Given the description of an element on the screen output the (x, y) to click on. 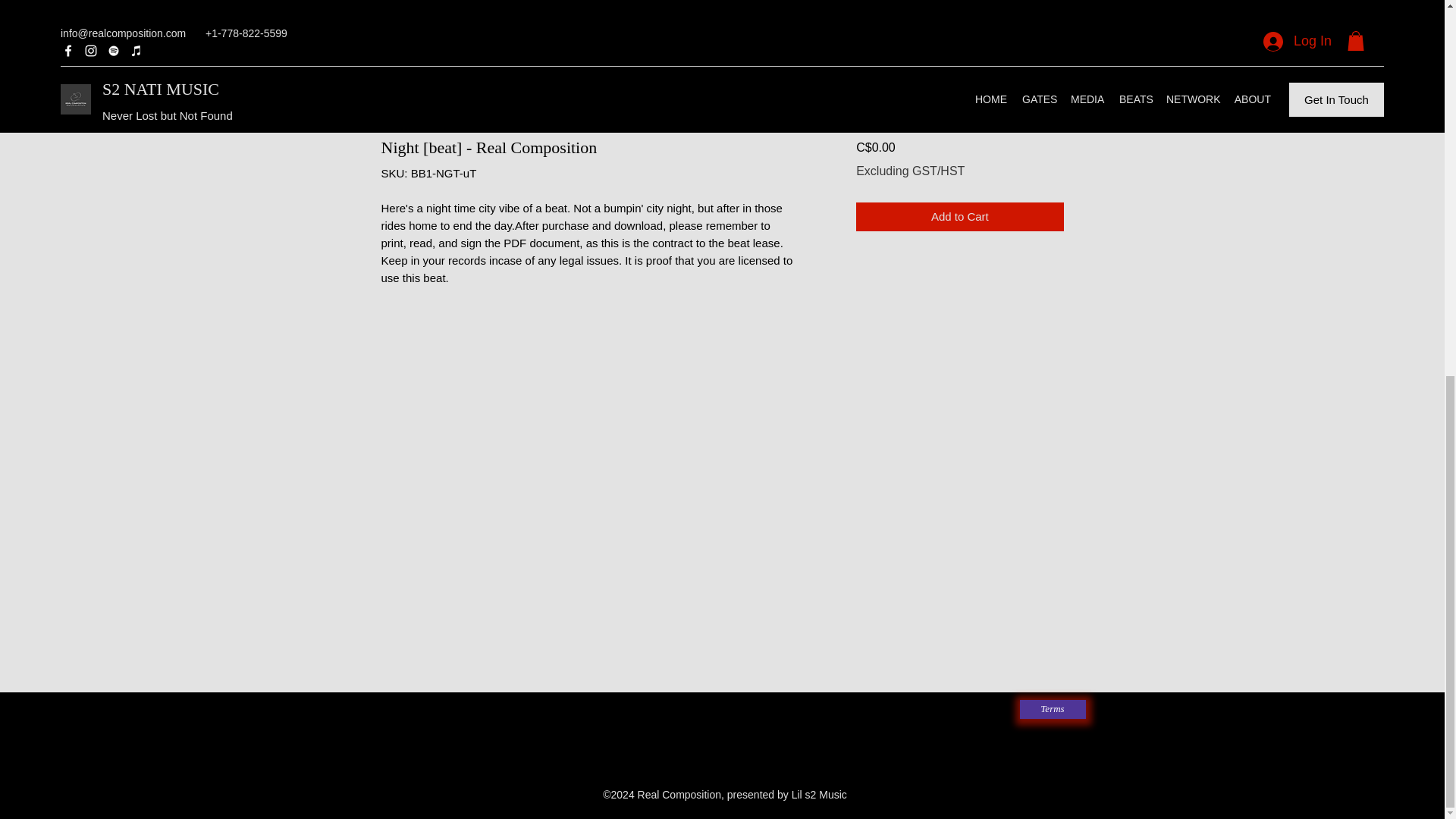
Terms (1051, 709)
Add to Cart (959, 216)
